Given the description of an element on the screen output the (x, y) to click on. 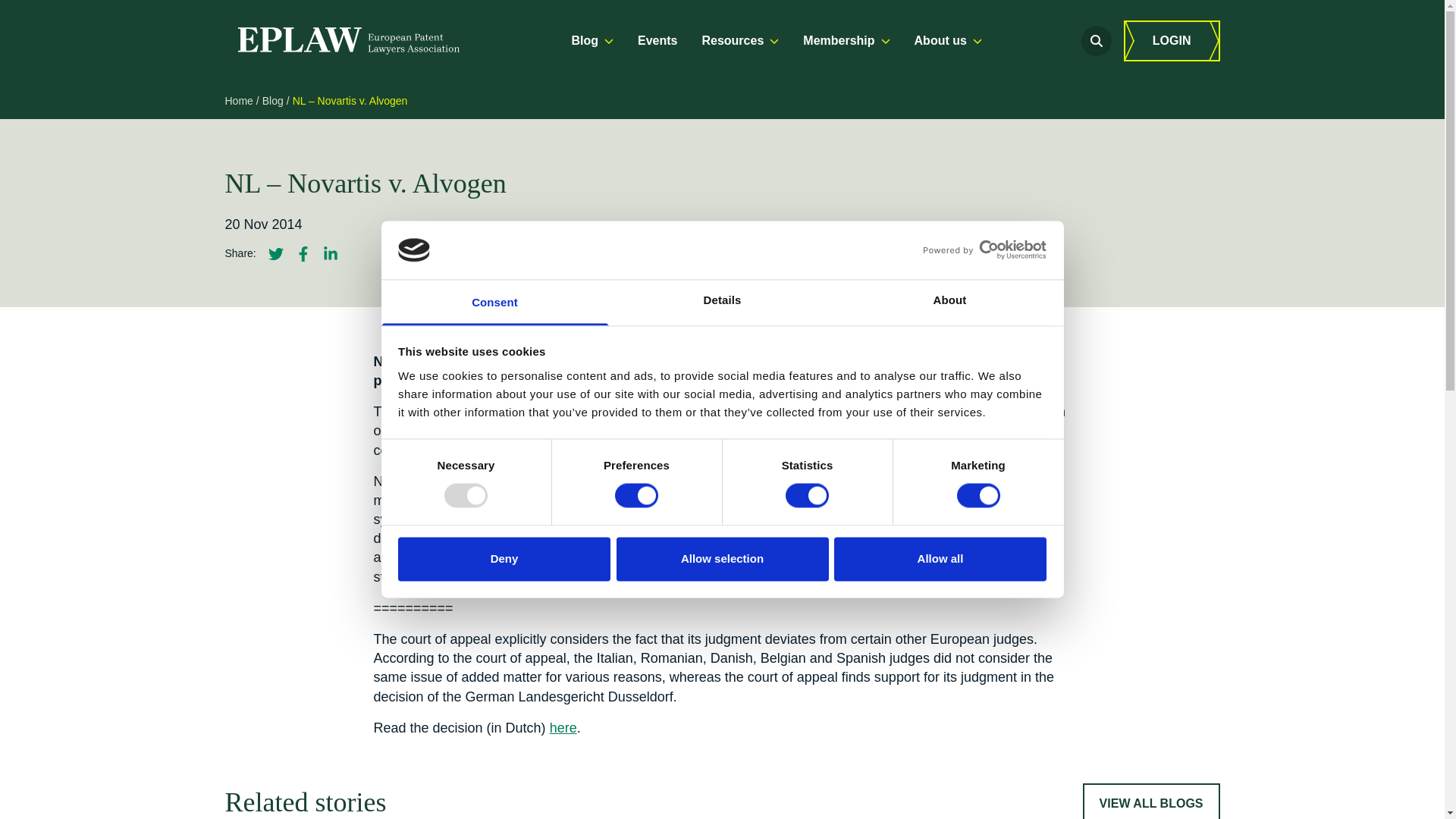
Resources (739, 41)
Deny (503, 558)
About (948, 302)
Open search form (1096, 40)
Details (721, 302)
VIEW ALL BLOGS (1151, 800)
Consent (494, 302)
EPLAW (347, 40)
Allow all (940, 558)
Allow selection (721, 558)
